Given the description of an element on the screen output the (x, y) to click on. 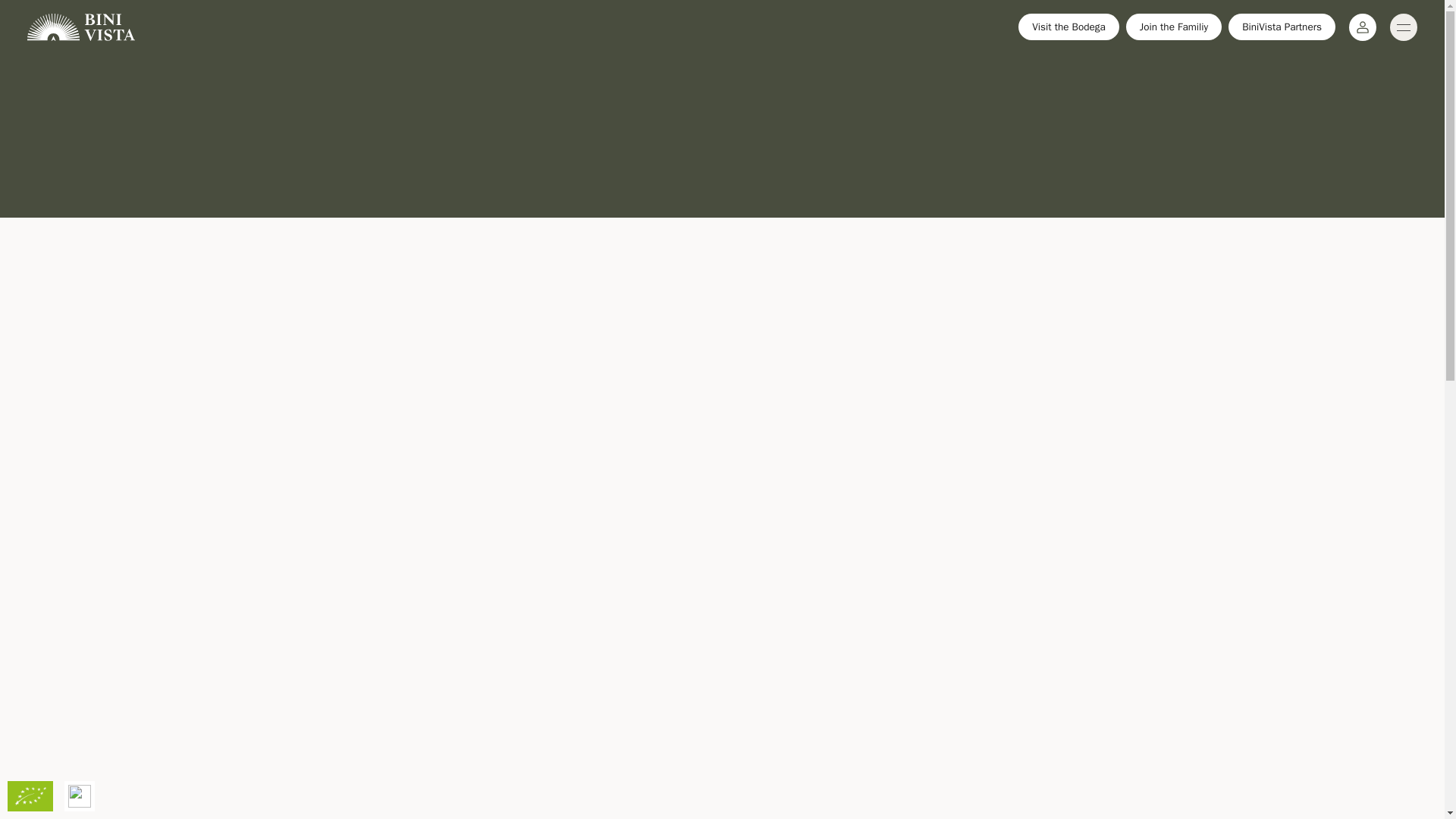
BiniVista Partners (1281, 26)
Visit the Bodega (1068, 26)
Join the Familiy (1173, 26)
Log in (1362, 26)
Join the Familiy (1173, 26)
Visit the Bodega (1068, 26)
Log in (1362, 26)
BiniVista Partners (1281, 26)
